Given the description of an element on the screen output the (x, y) to click on. 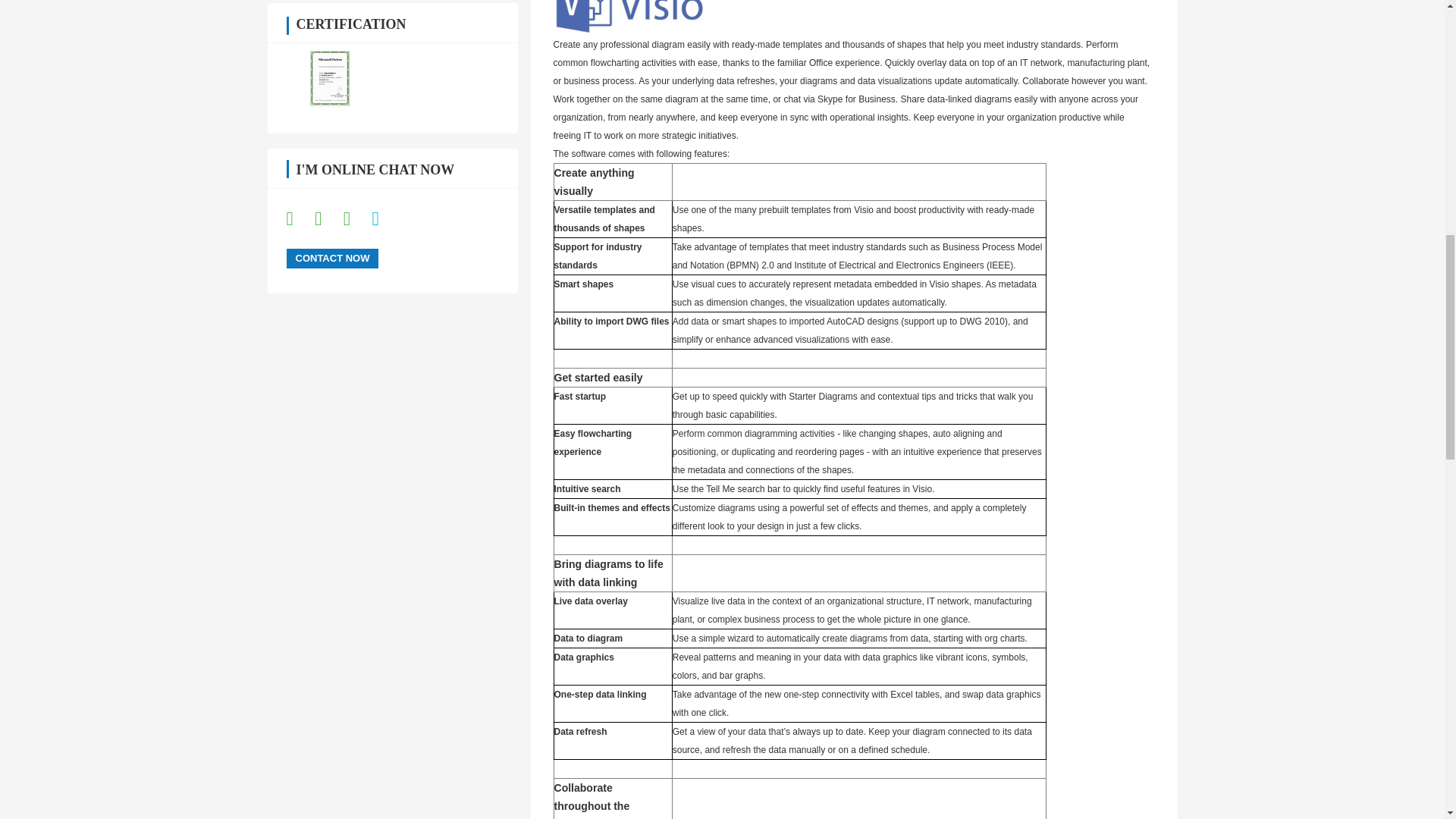
Contact Now (332, 258)
Contact Now (332, 258)
